Given the description of an element on the screen output the (x, y) to click on. 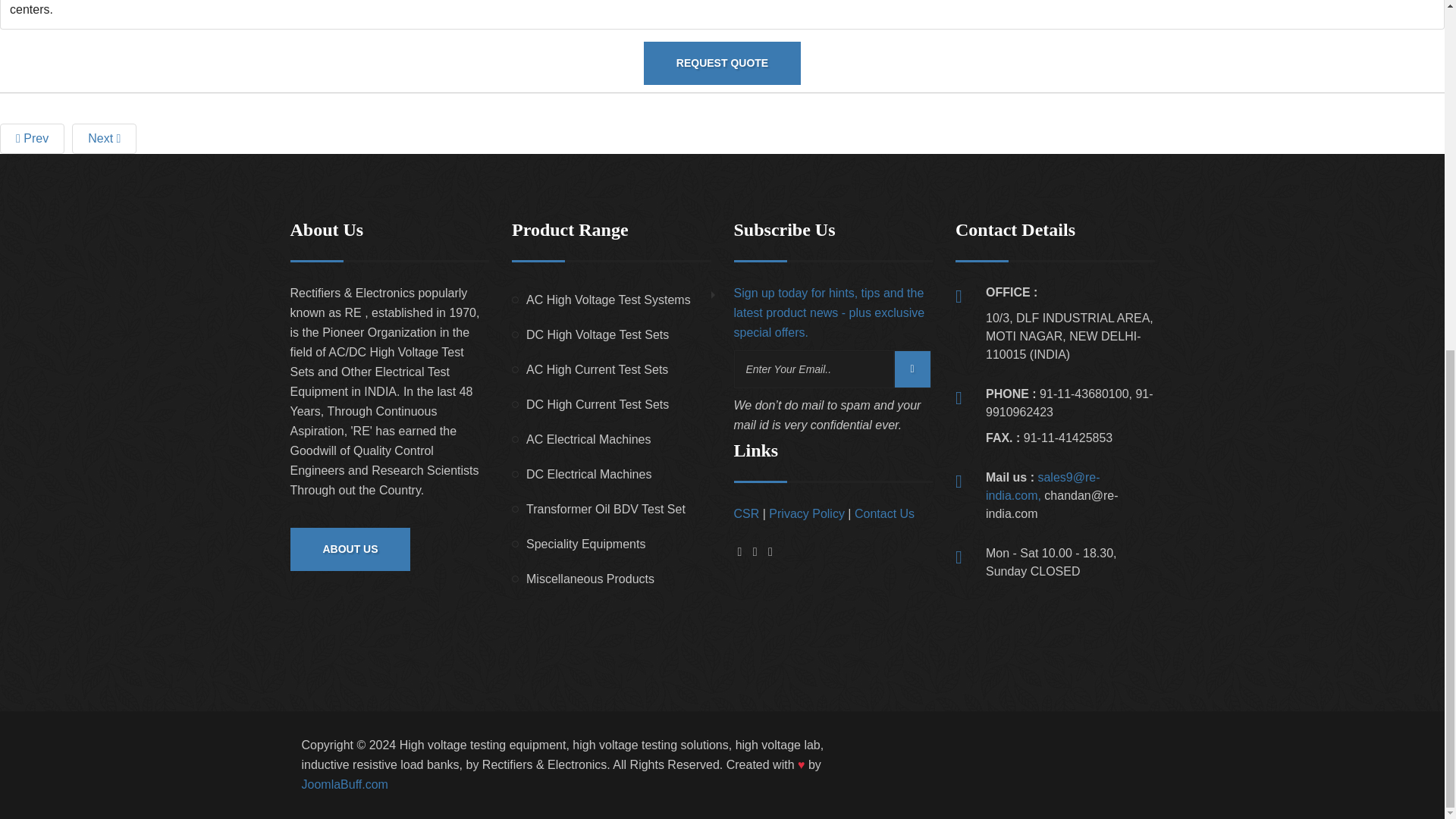
Enter Your Email.. (813, 369)
